Given the description of an element on the screen output the (x, y) to click on. 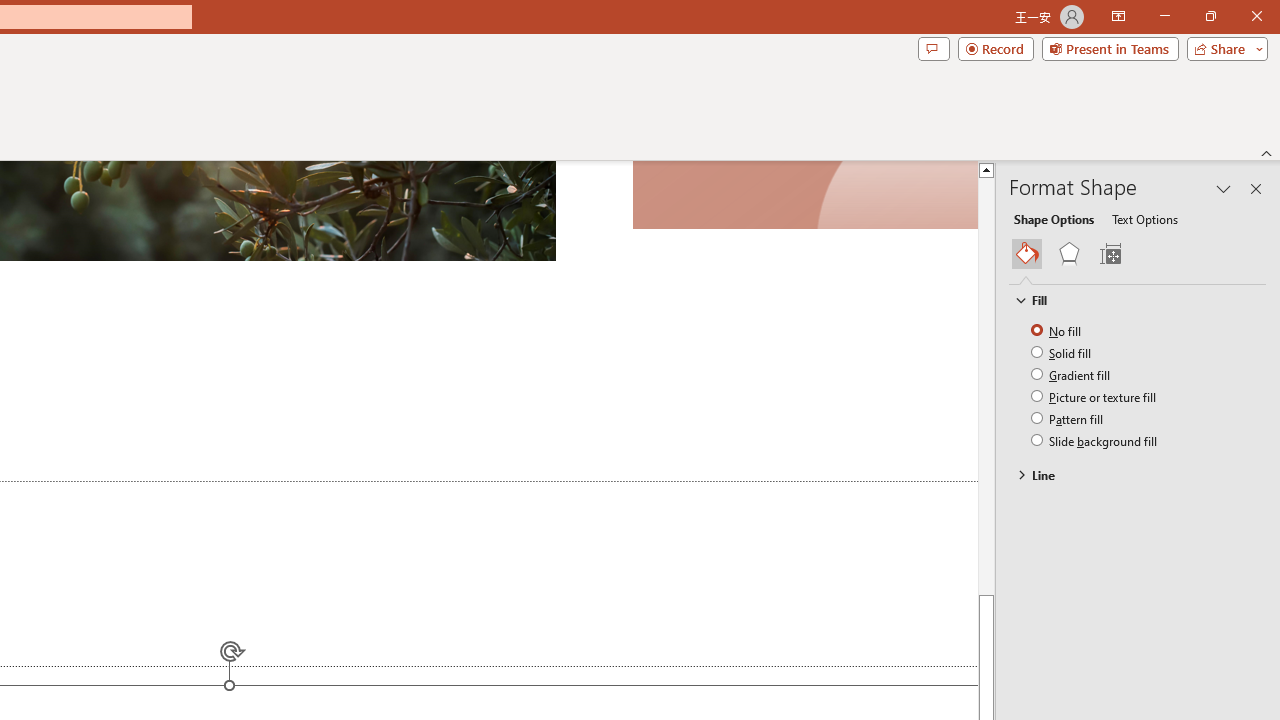
Pattern fill (1068, 417)
Camera 7, No camera detected. (804, 195)
Fill (1128, 299)
Size & Properties (1110, 254)
Solid fill (1062, 352)
Effects (1069, 254)
Gradient fill (1071, 374)
